Given the description of an element on the screen output the (x, y) to click on. 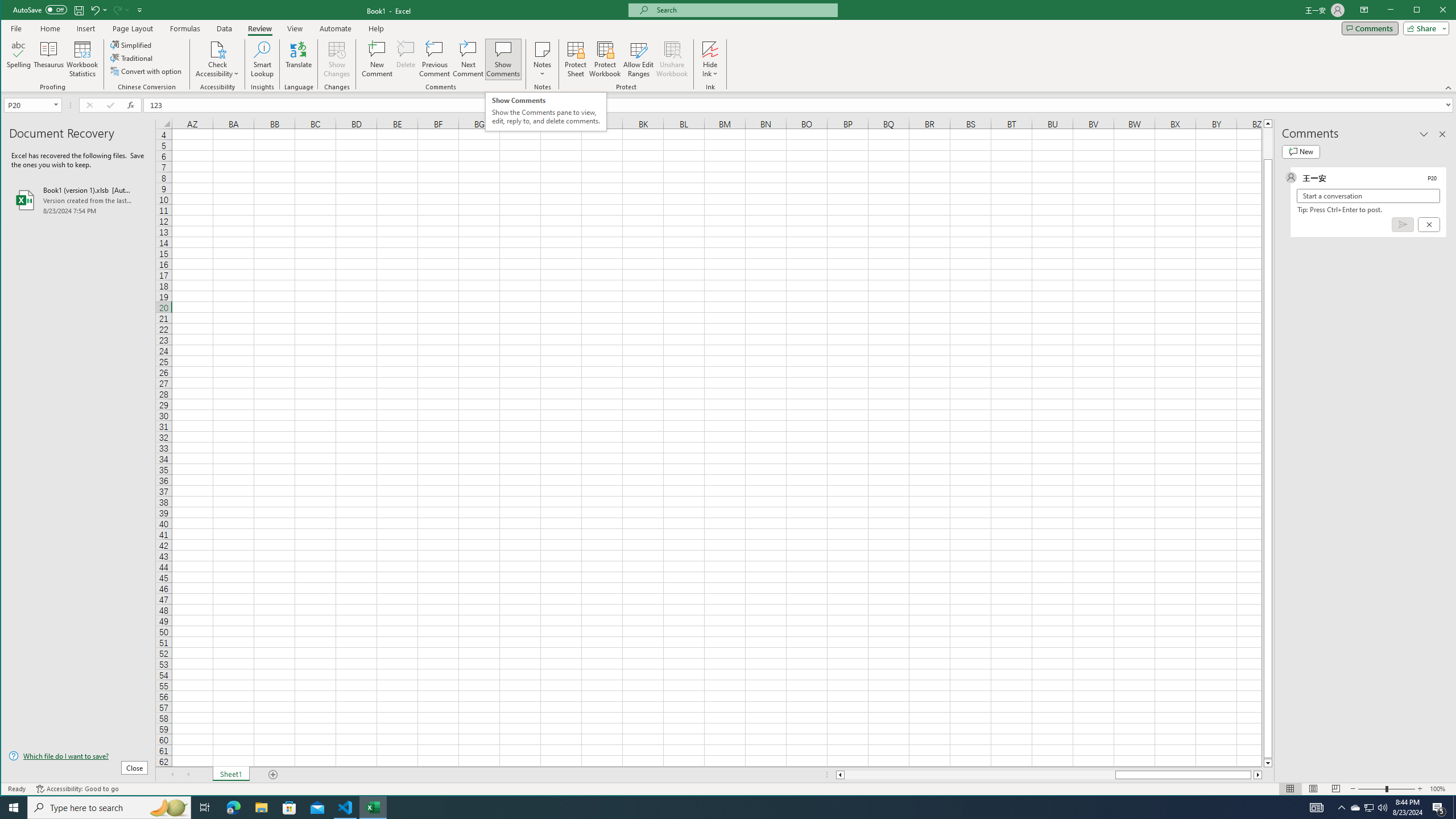
Translate (298, 59)
Cancel (1428, 224)
Running applications (717, 807)
Smart Lookup (261, 59)
Traditional (132, 57)
